Given the description of an element on the screen output the (x, y) to click on. 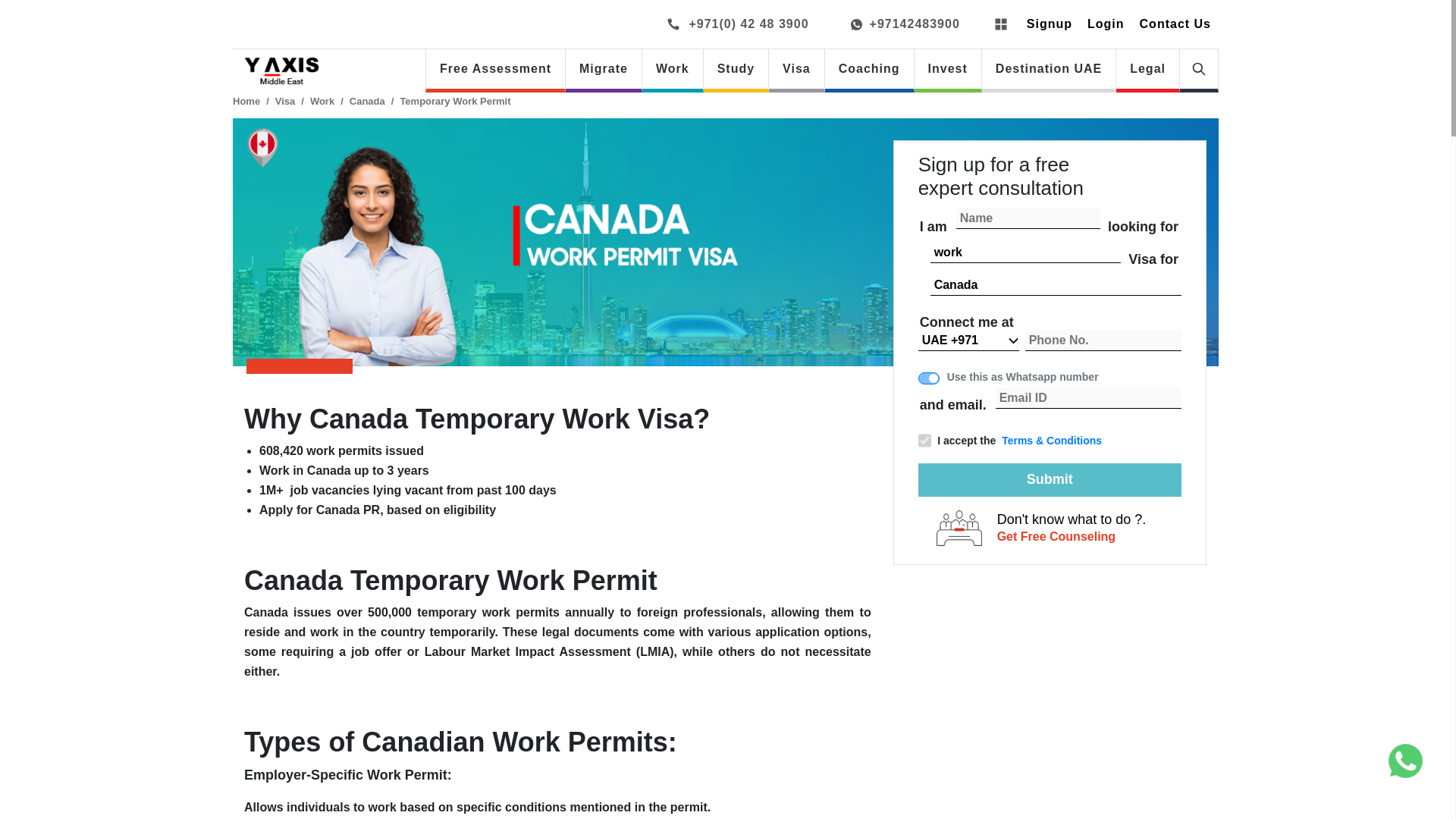
Visa (285, 101)
Work (322, 101)
Home (246, 101)
Temporary Work Permit (454, 101)
Migrate (604, 68)
Submit (1049, 479)
Coaching (869, 68)
Study (735, 68)
Login (1106, 24)
Y-axis Logo (281, 70)
